Given the description of an element on the screen output the (x, y) to click on. 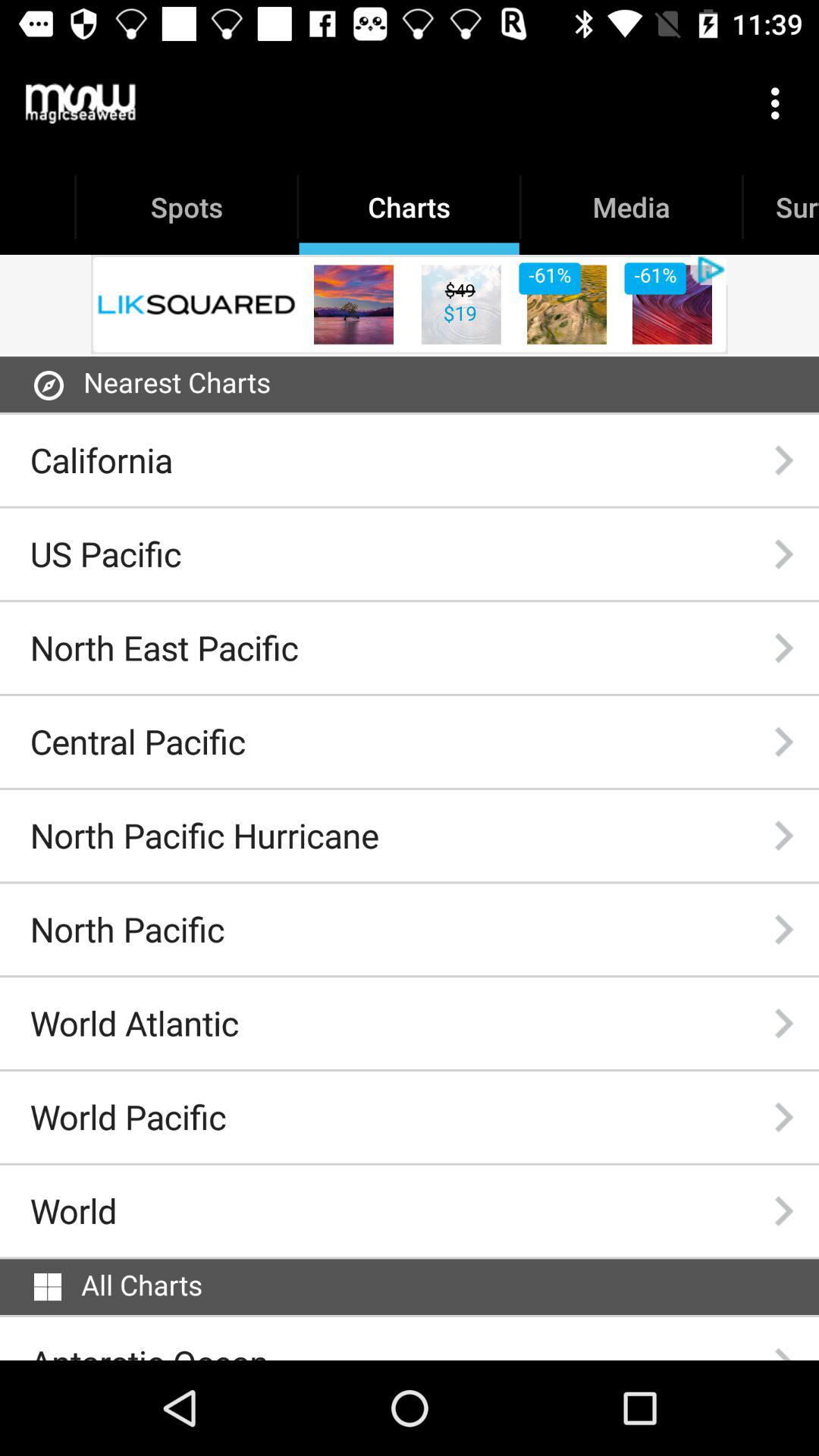
open the icon to the right of us pacific (784, 554)
